Given the description of an element on the screen output the (x, y) to click on. 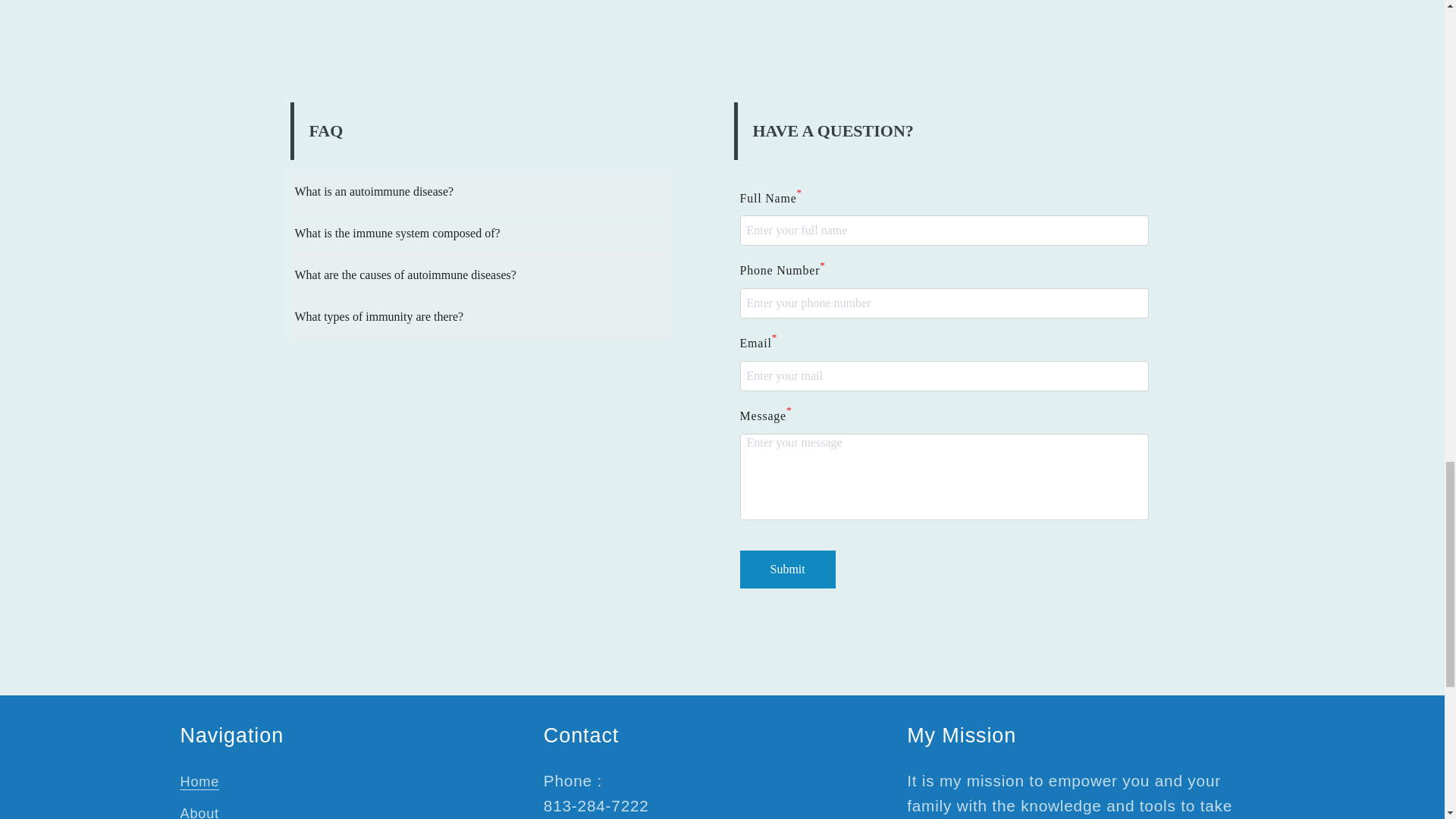
What types of immunity are there? (480, 317)
Home (199, 784)
Submit (787, 569)
What is an autoimmune disease? (480, 191)
What is the immune system composed of? (480, 233)
What are the causes of autoimmune diseases? (480, 275)
About (199, 808)
